Given the description of an element on the screen output the (x, y) to click on. 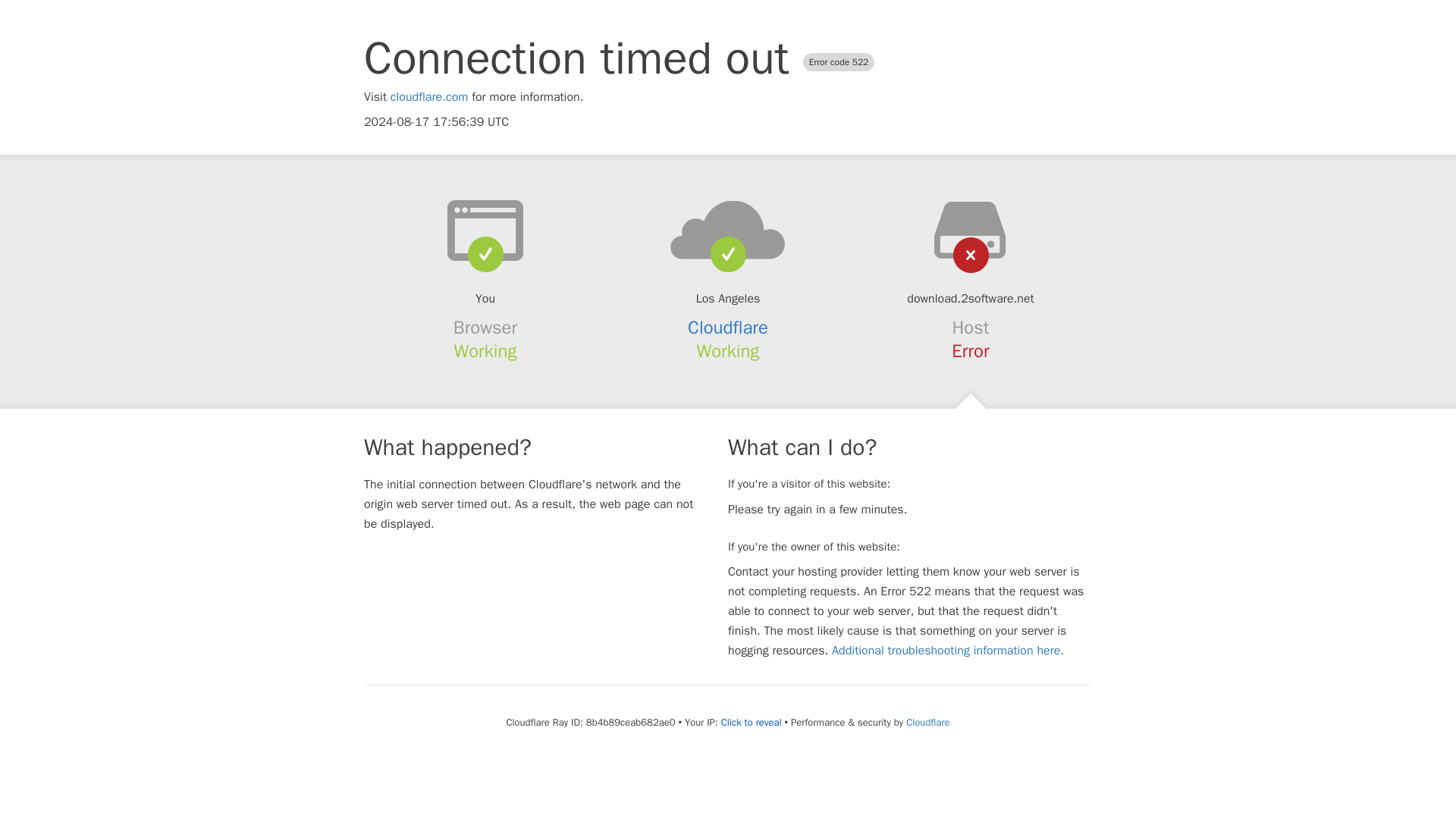
cloudflare.com (429, 96)
Cloudflare (927, 721)
Click to reveal (750, 722)
Cloudflare (727, 327)
Additional troubleshooting information here. (947, 650)
